Given the description of an element on the screen output the (x, y) to click on. 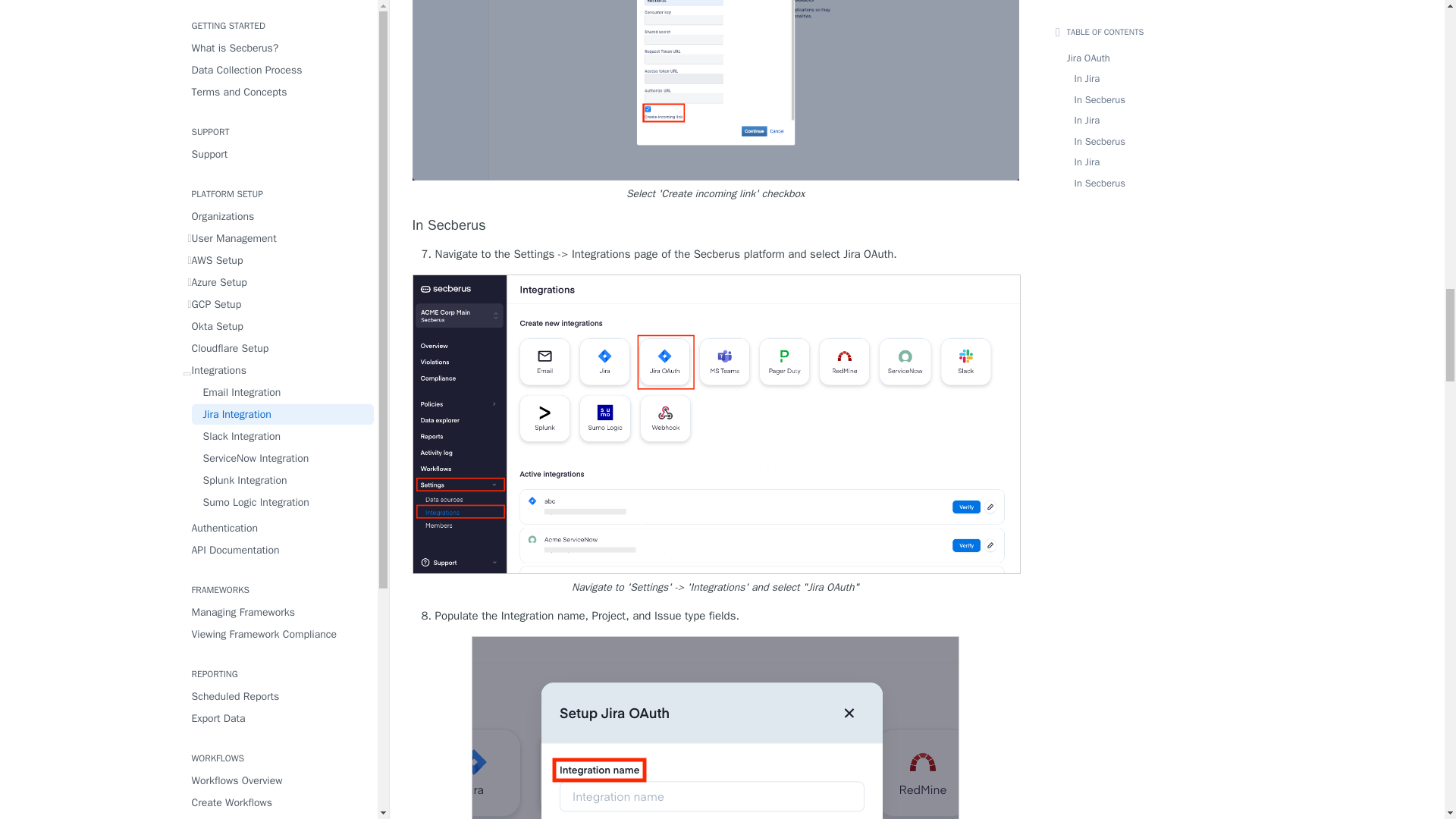
In Secberus (715, 225)
